Given the description of an element on the screen output the (x, y) to click on. 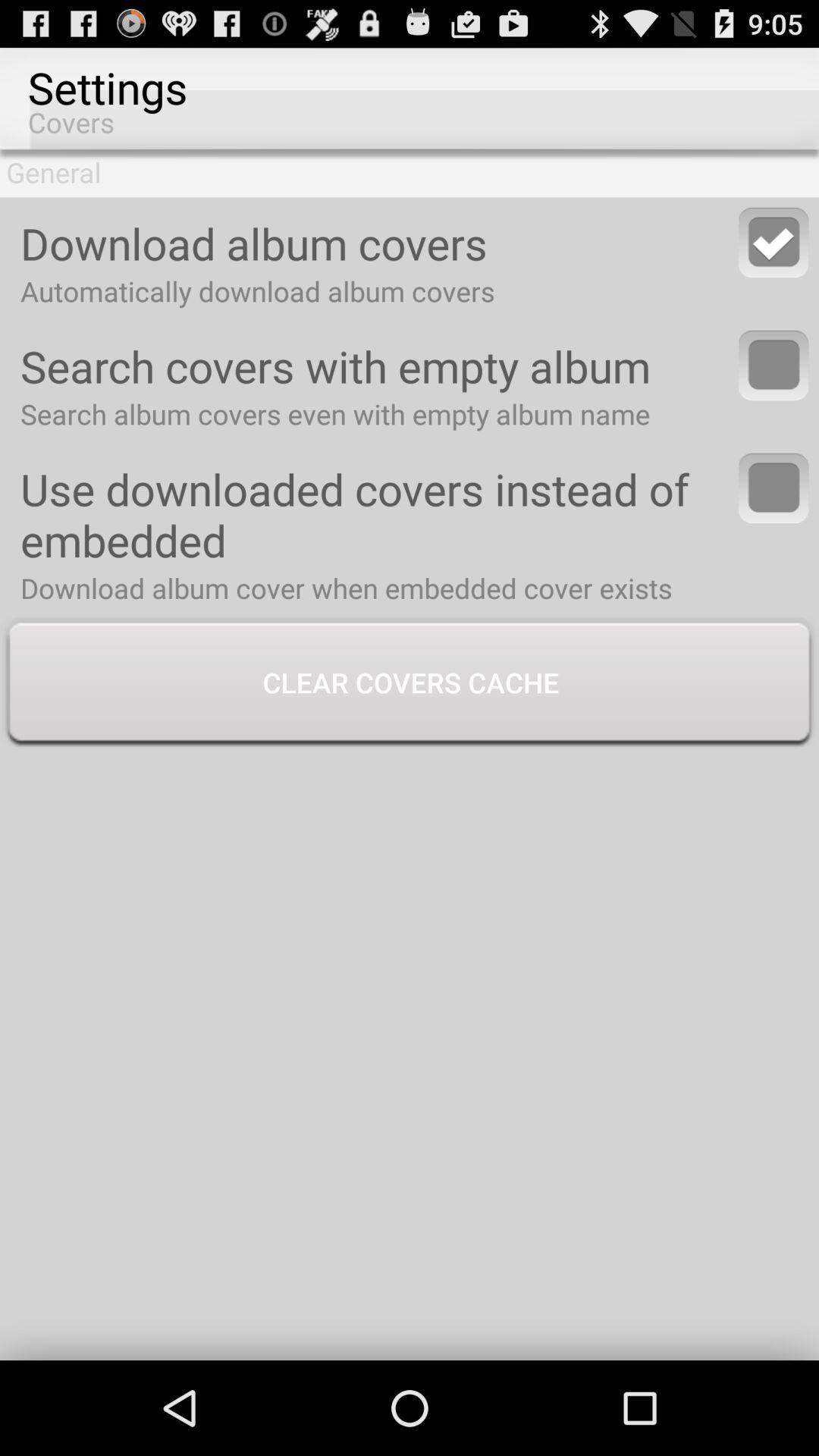
choose icon below download album cover icon (409, 684)
